Given the description of an element on the screen output the (x, y) to click on. 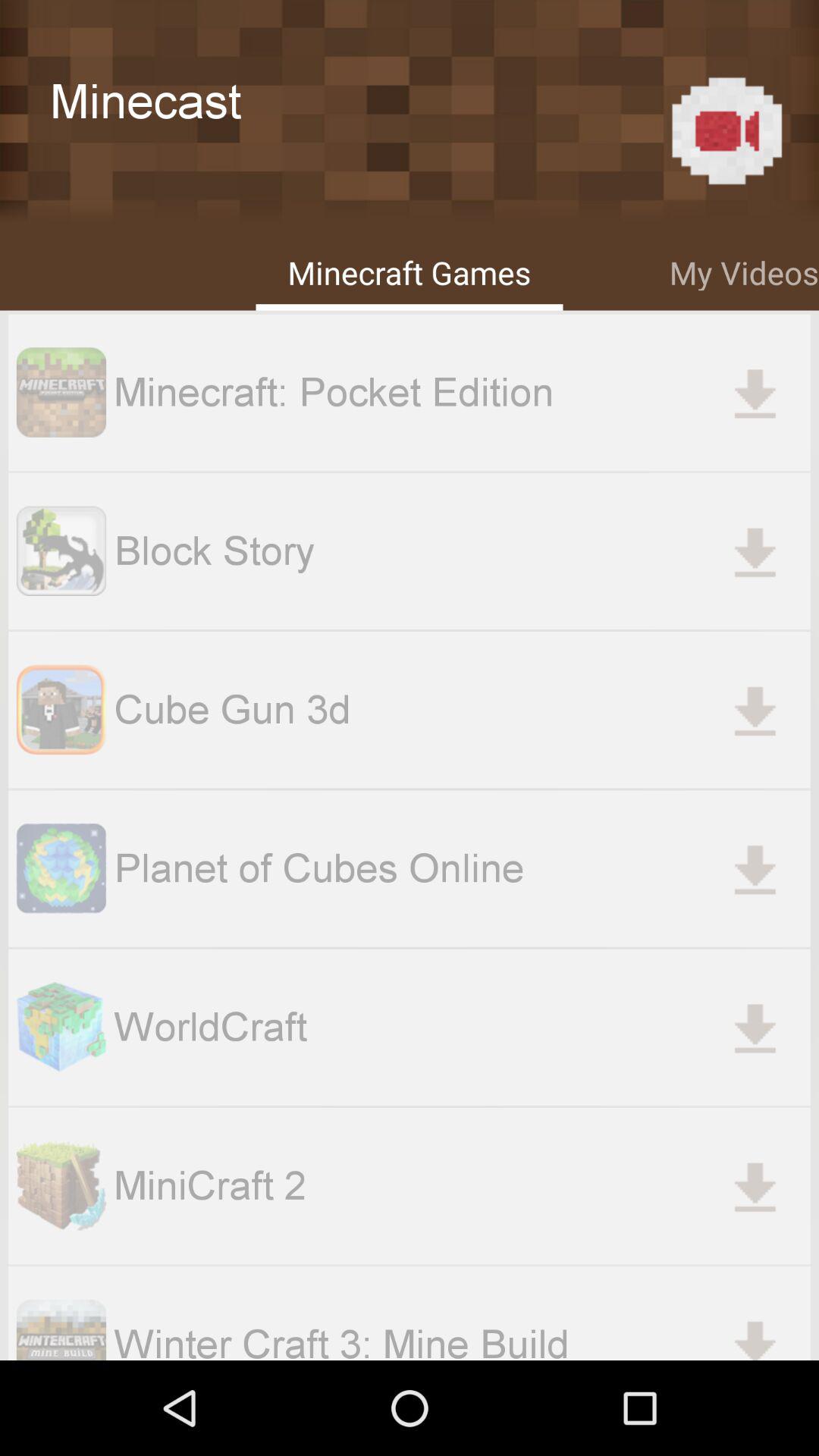
flip to minicraft 2 icon (462, 1185)
